Given the description of an element on the screen output the (x, y) to click on. 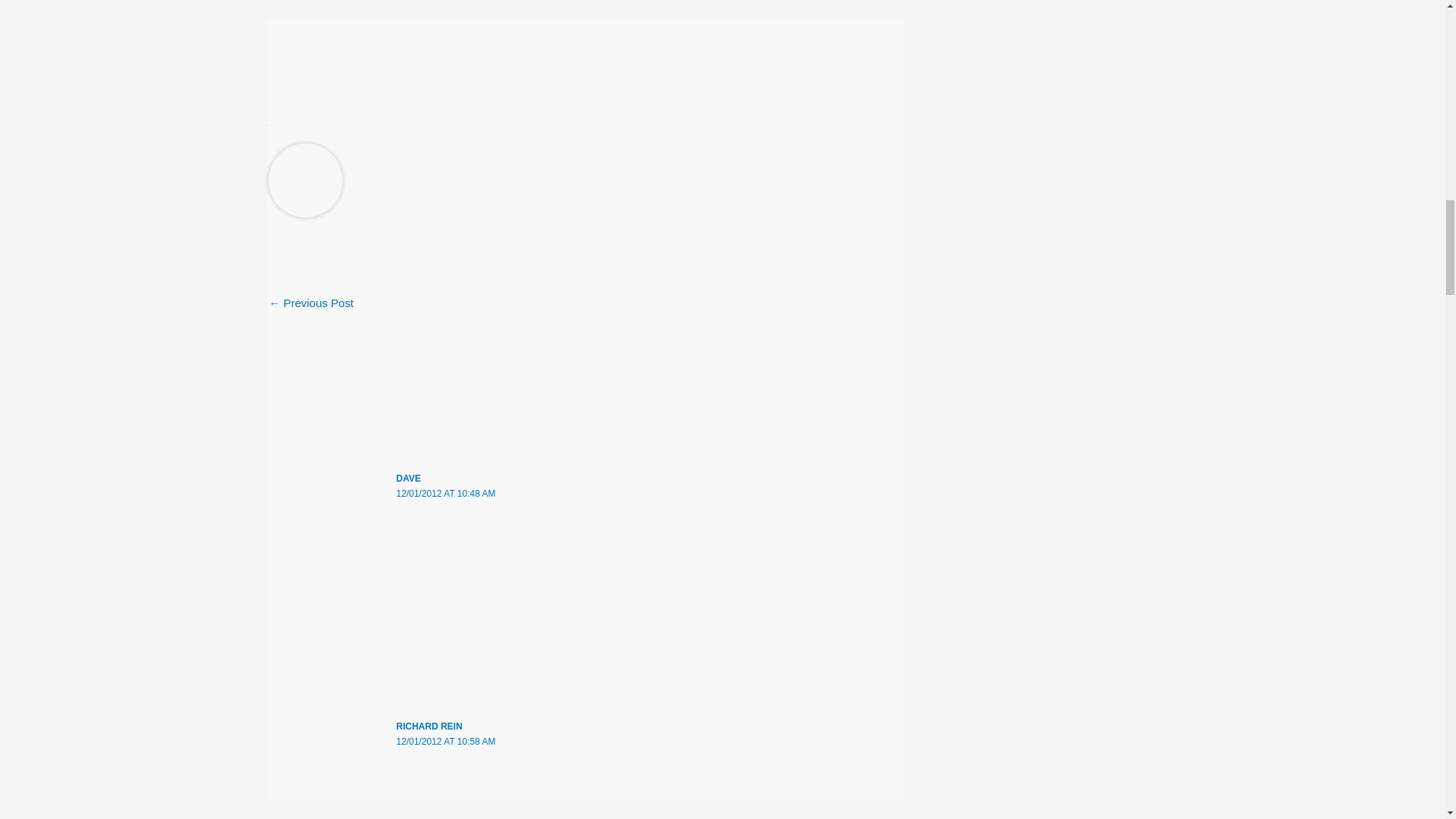
How To: Boot direct to the desktop in Windows 8 (870, 304)
3rd party ad content (585, 11)
Geek Fact for November 29th (310, 304)
